Given the description of an element on the screen output the (x, y) to click on. 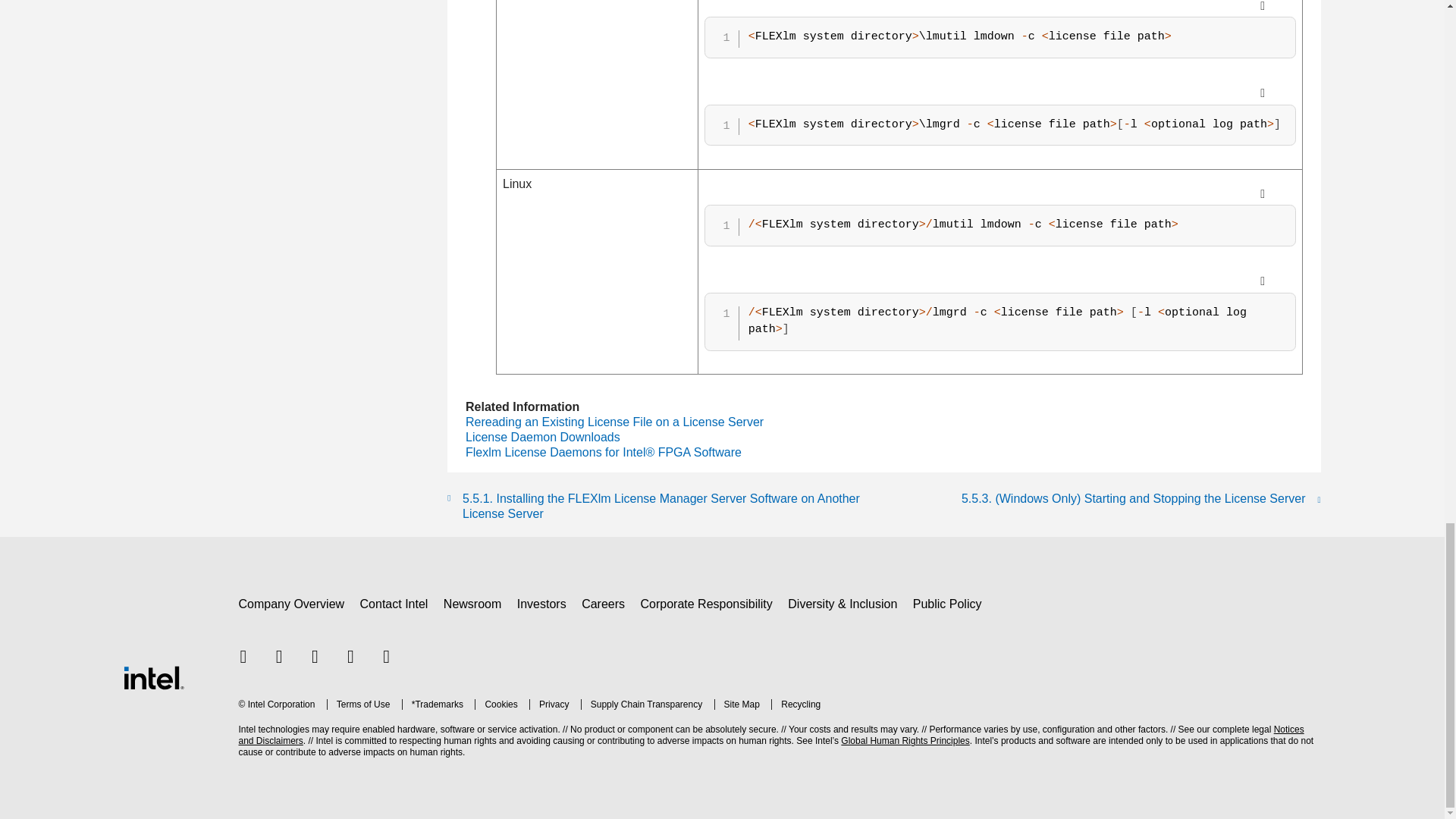
Intel Footer Logo (152, 676)
